Given the description of an element on the screen output the (x, y) to click on. 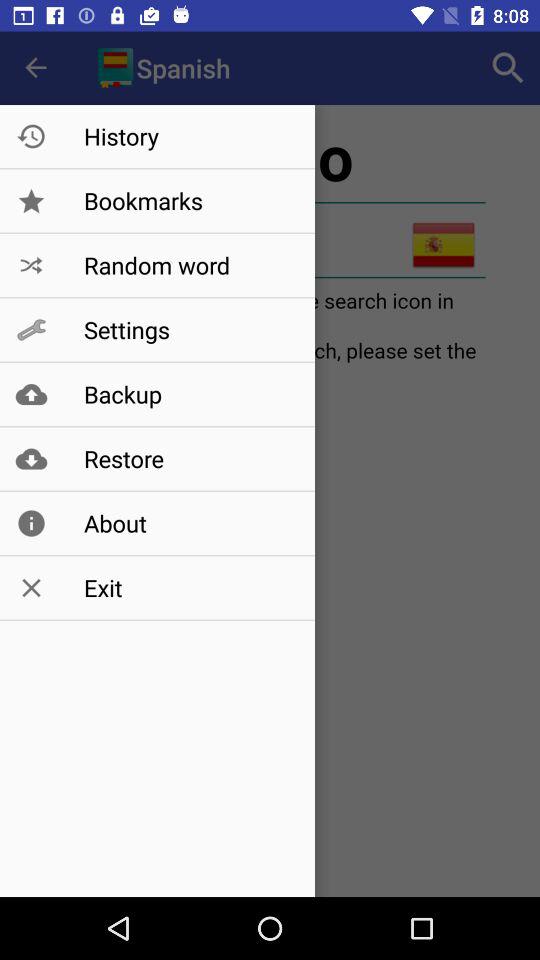
flip to the restore item (188, 458)
